Given the description of an element on the screen output the (x, y) to click on. 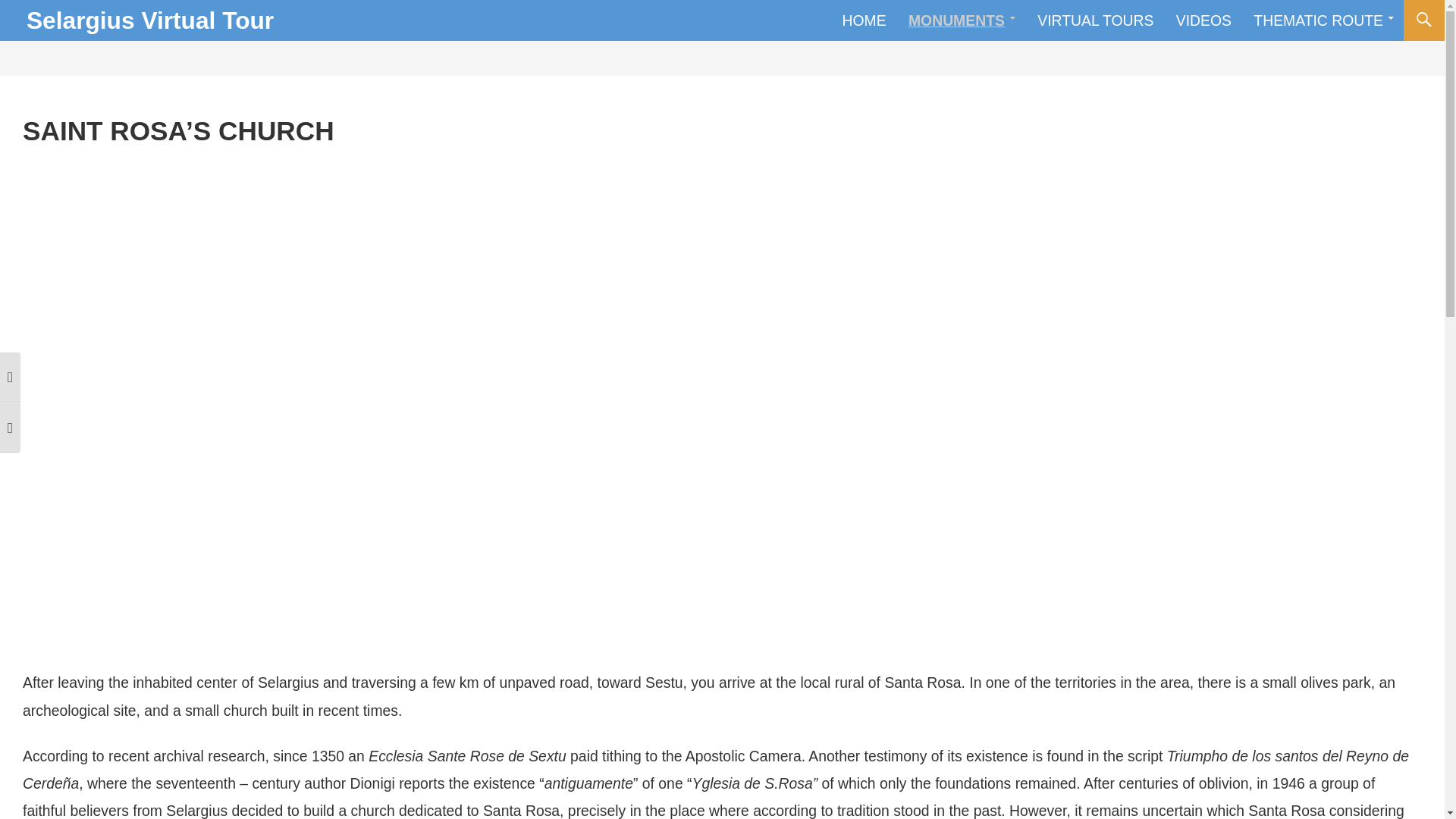
Virtual Tour del Comune di Selargius (149, 20)
Italiano (1305, 20)
Selargius Virtual Tour (149, 20)
HOME (863, 20)
Sardo (1400, 20)
VIDEOS (1203, 20)
MONUMENTS (962, 20)
THEMATIC ROUTE (1323, 20)
VIRTUAL TOURS (1094, 20)
